Given the description of an element on the screen output the (x, y) to click on. 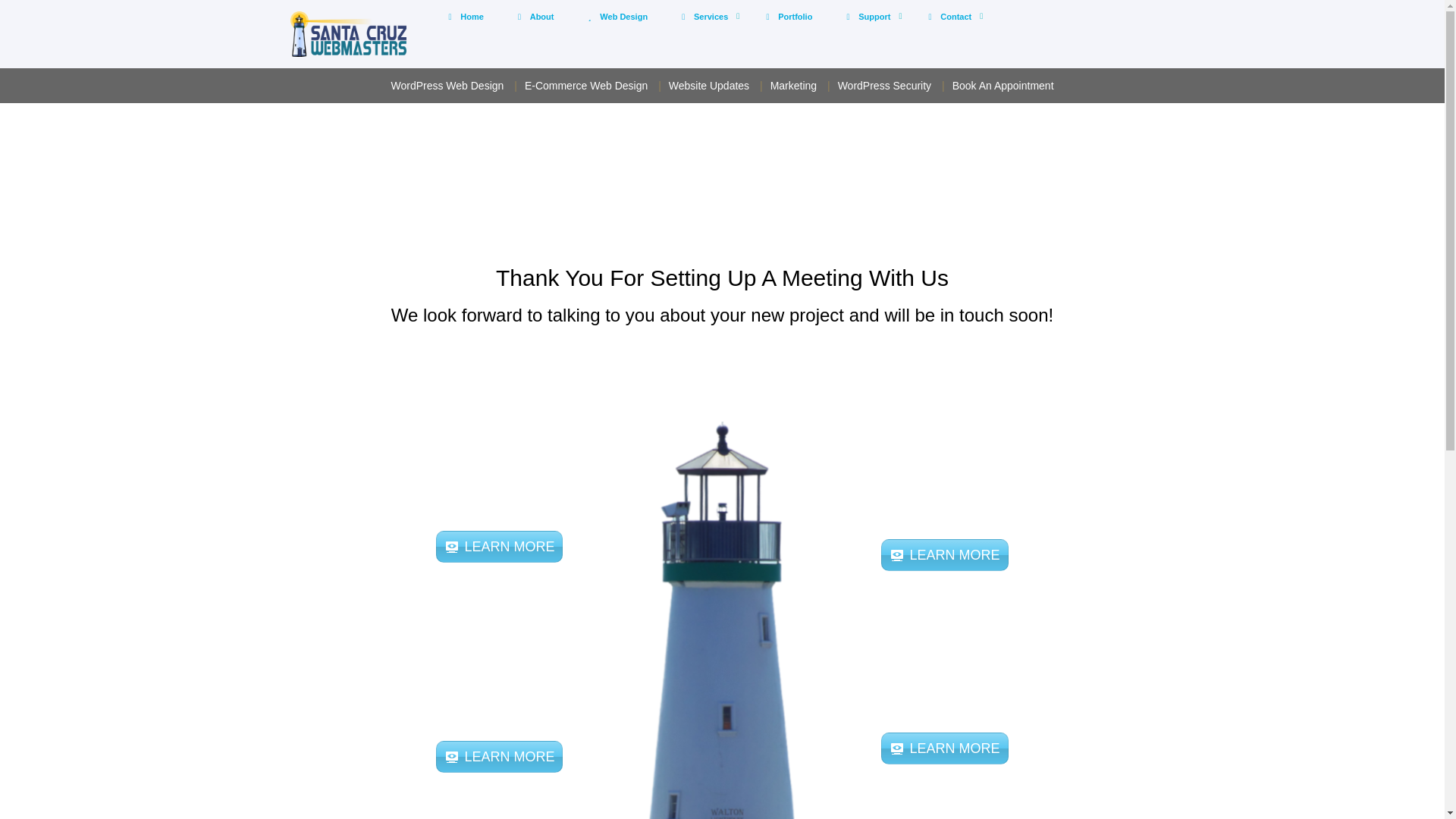
Our Portfolio (767, 17)
Other Services (683, 17)
Home (463, 16)
Contact Us (449, 17)
About Us (786, 16)
